Given the description of an element on the screen output the (x, y) to click on. 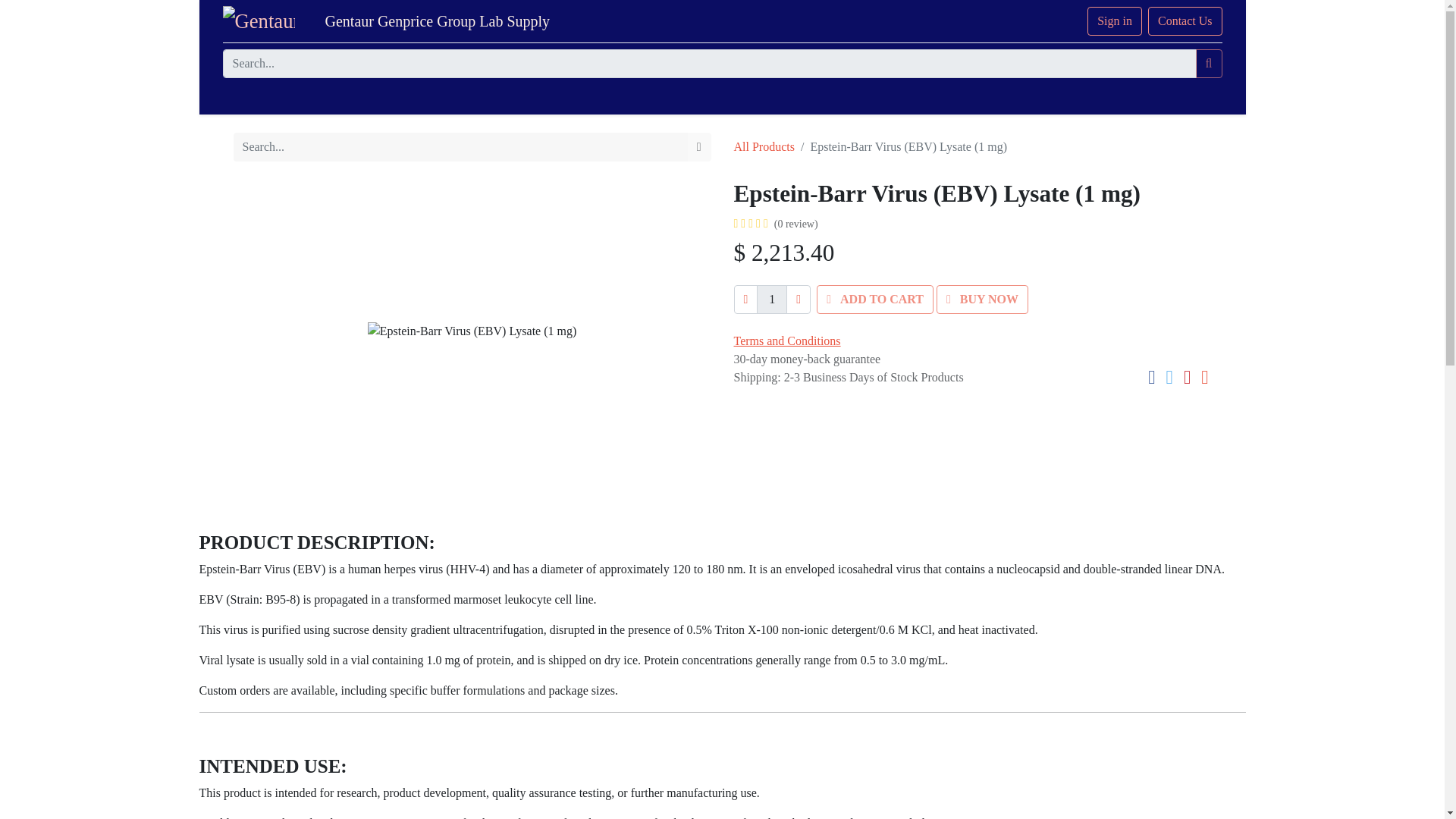
Sign in (1114, 21)
Contact Us (1185, 21)
Gentaur Genprice (258, 20)
1 (772, 299)
BUY NOW (981, 299)
ADD TO CART (874, 299)
All Products (763, 146)
Search (1209, 63)
Terms and Conditions (787, 340)
